Given the description of an element on the screen output the (x, y) to click on. 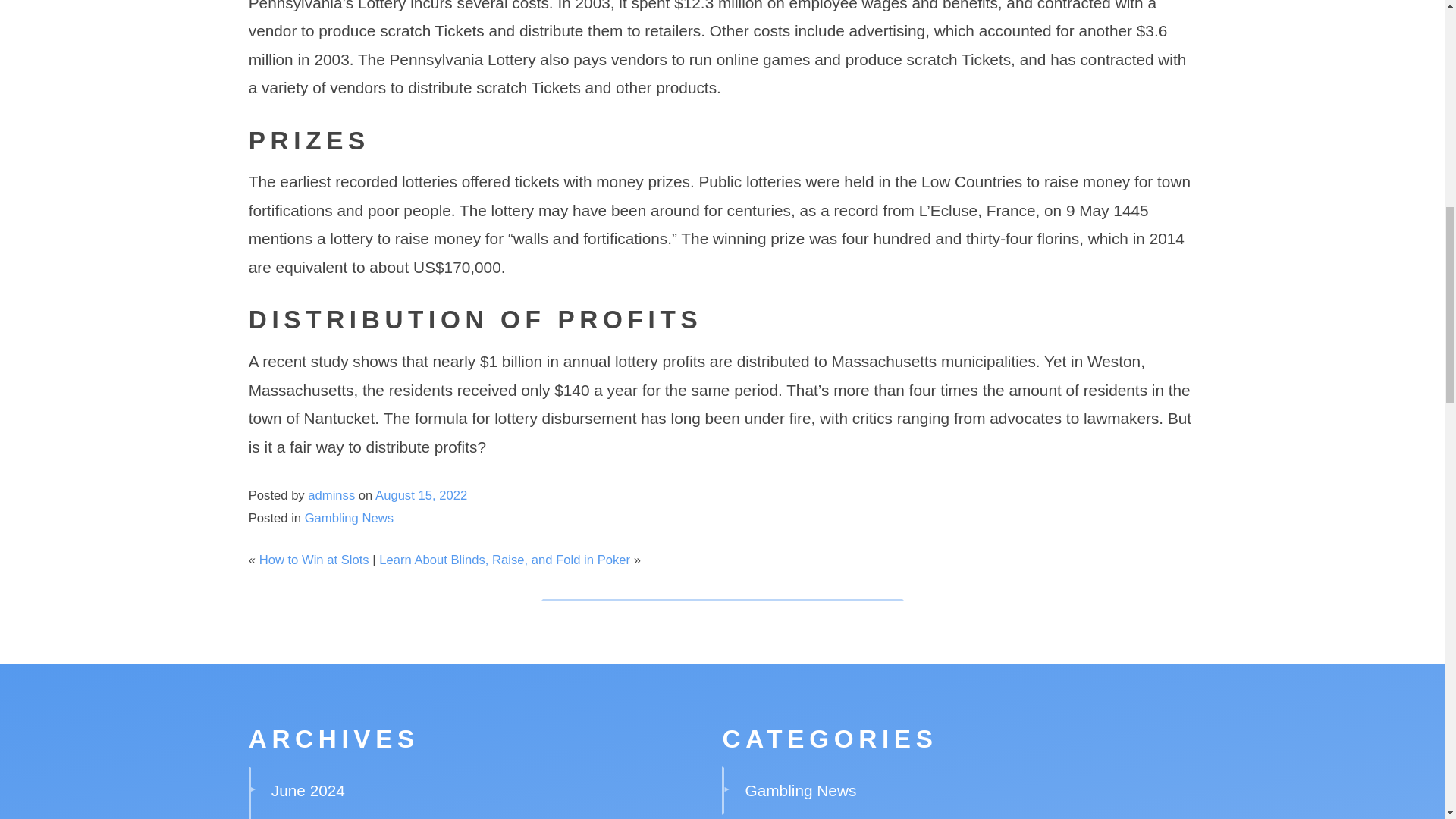
Gambling News (348, 518)
May 2024 (305, 818)
Gambling News (801, 790)
adminss (331, 495)
How to Win at Slots (314, 559)
August 15, 2022 (421, 495)
June 2024 (307, 790)
Learn About Blinds, Raise, and Fold in Poker (504, 559)
